Given the description of an element on the screen output the (x, y) to click on. 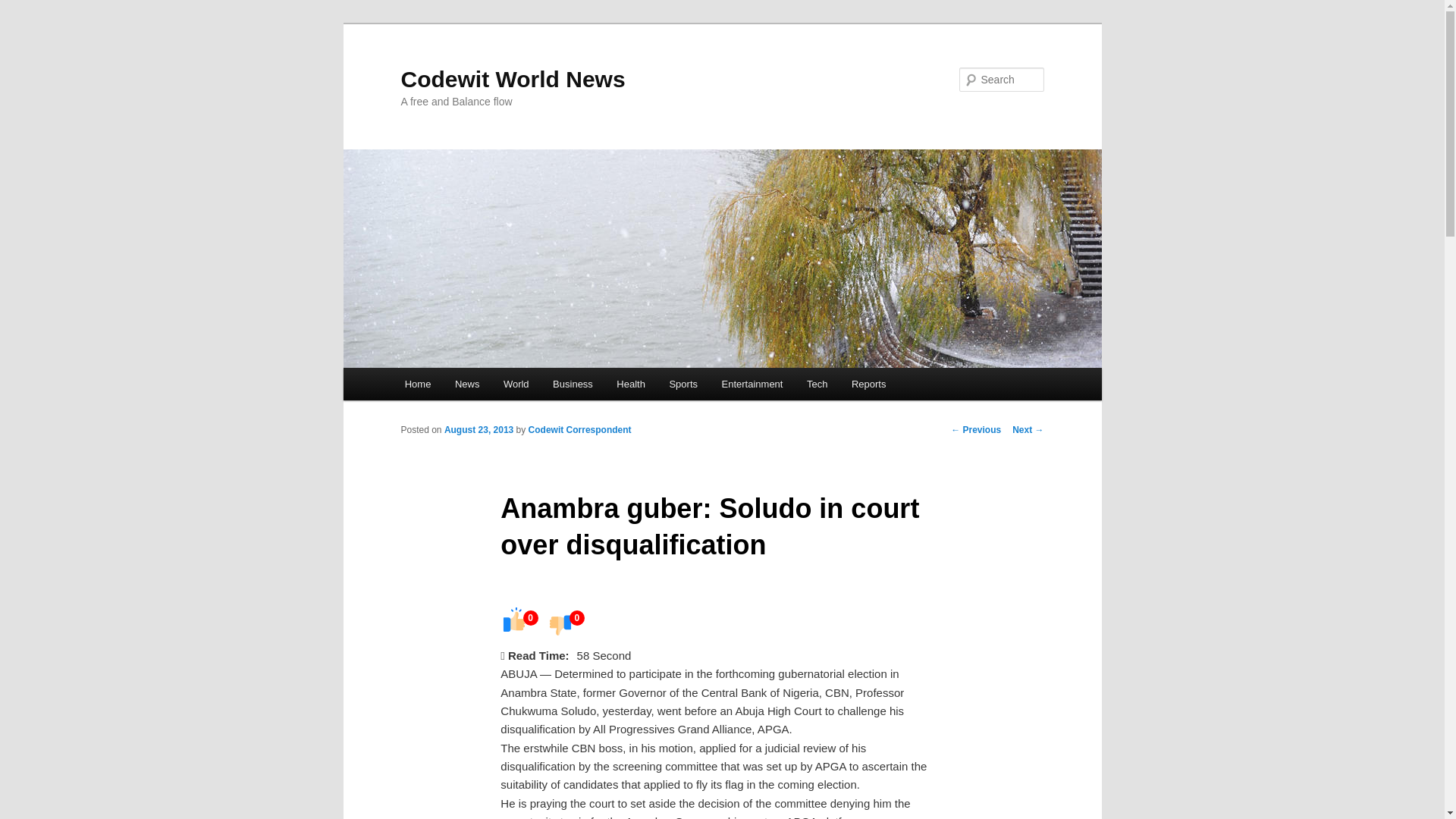
Tech (817, 383)
News (467, 383)
World (516, 383)
Business (572, 383)
Sports (684, 383)
Health (631, 383)
Entertainment (752, 383)
Home (417, 383)
Search (24, 8)
Codewit World News (512, 78)
